Given the description of an element on the screen output the (x, y) to click on. 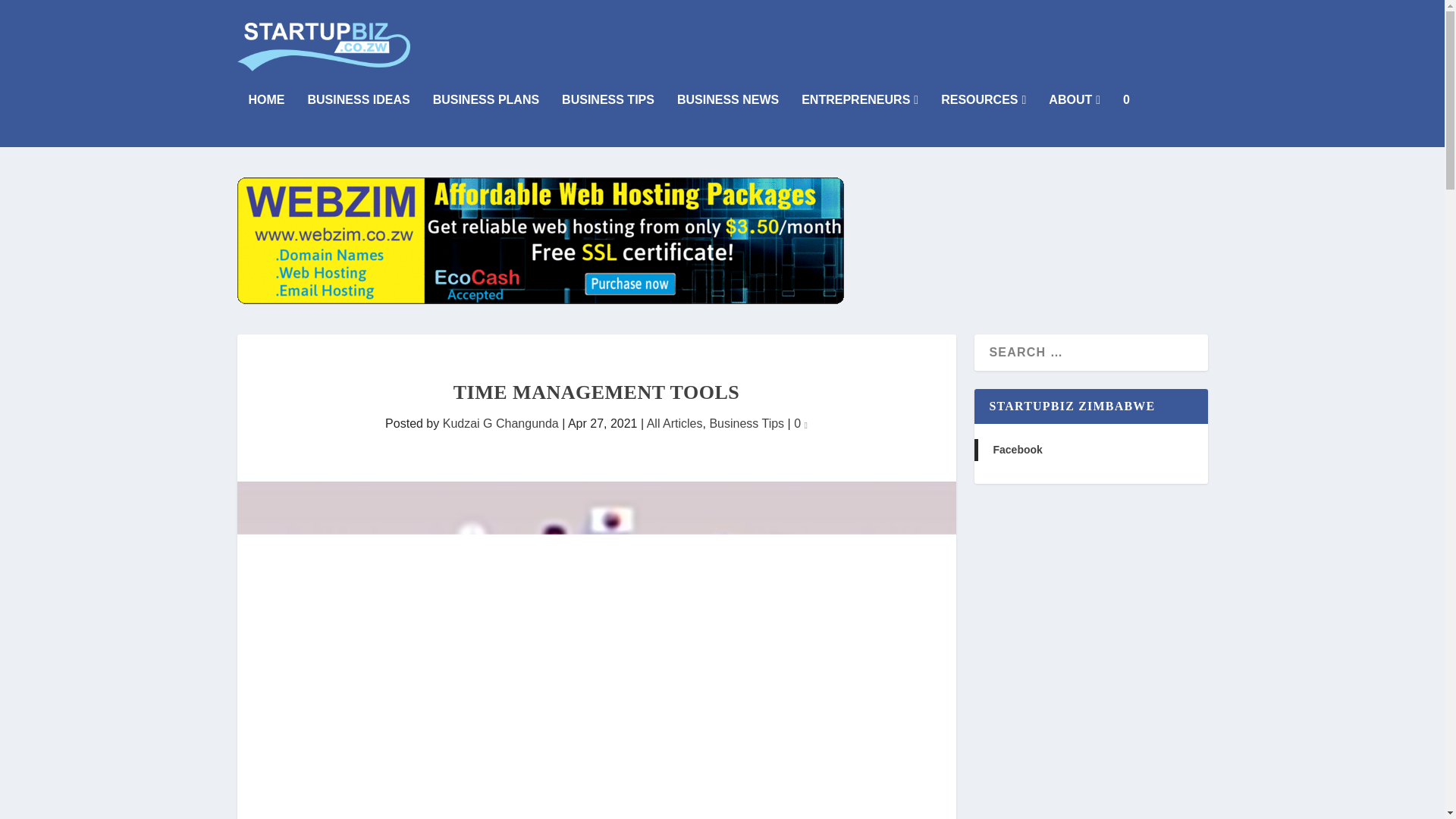
RESOURCES (983, 120)
ENTREPRENEURS (860, 120)
BUSINESS TIPS (607, 120)
Kudzai G Changunda (500, 422)
Posts by Kudzai G Changunda (500, 422)
BUSINESS NEWS (727, 120)
0 (800, 422)
Business Tips (746, 422)
All Articles (674, 422)
ABOUT (1074, 120)
